Given the description of an element on the screen output the (x, y) to click on. 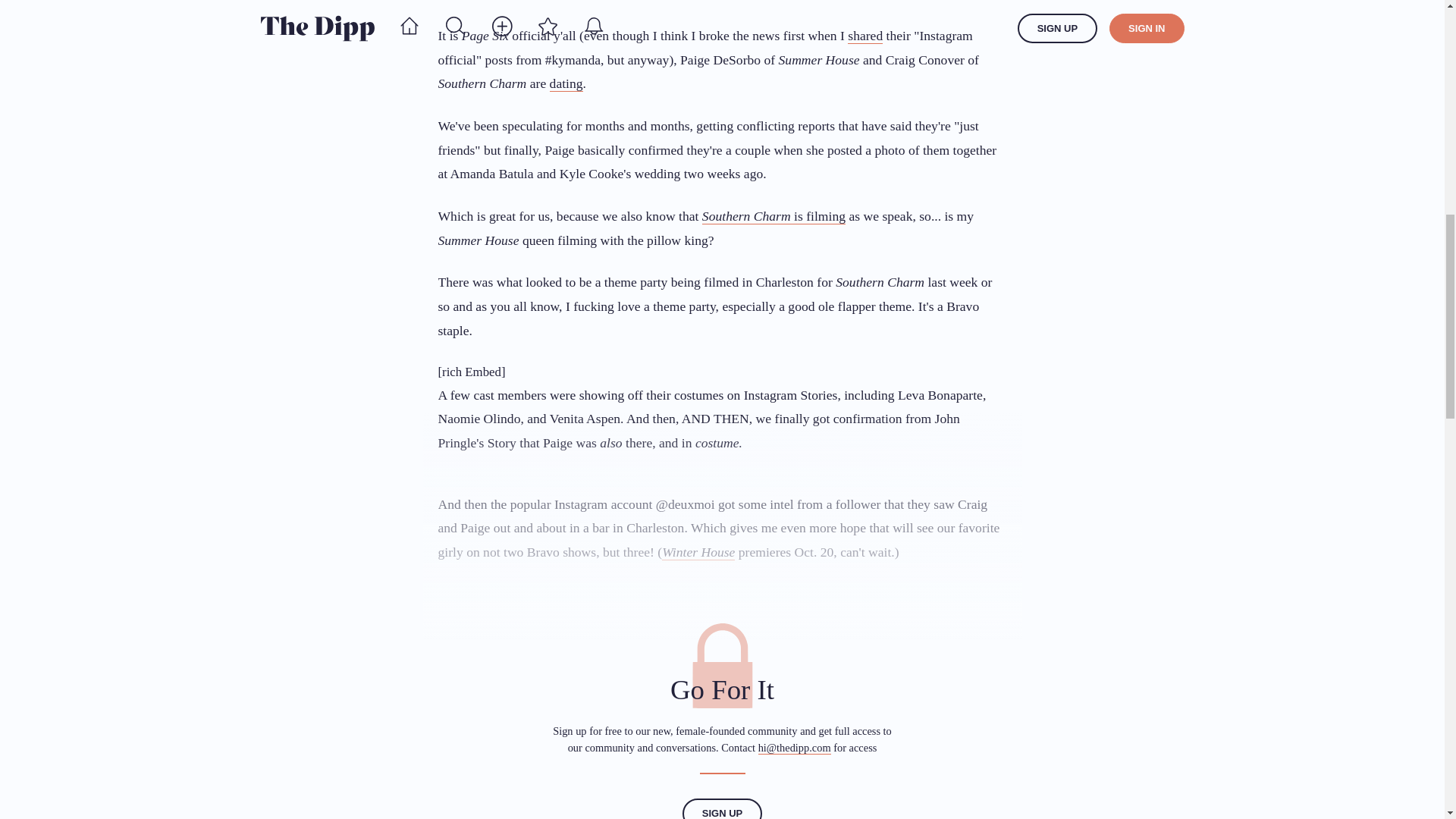
Southern Charm is filming (773, 216)
dating (566, 83)
SIGN UP (721, 808)
shared (864, 35)
Winter House (698, 552)
